Given the description of an element on the screen output the (x, y) to click on. 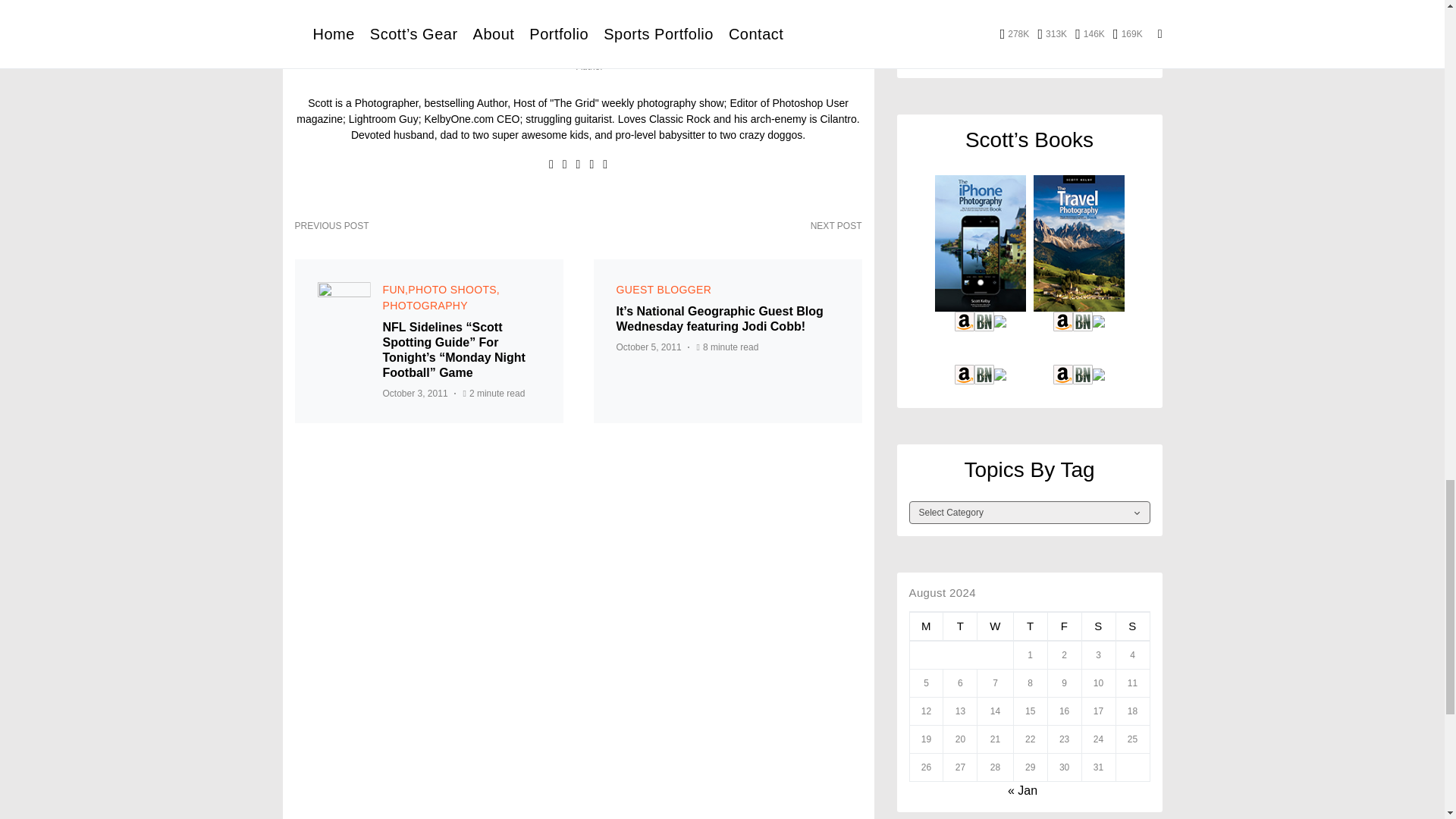
Tuesday (959, 625)
Sunday (1132, 625)
Friday (1063, 625)
Wednesday (994, 625)
Monday (925, 625)
Saturday (1098, 625)
Thursday (1029, 625)
